Given the description of an element on the screen output the (x, y) to click on. 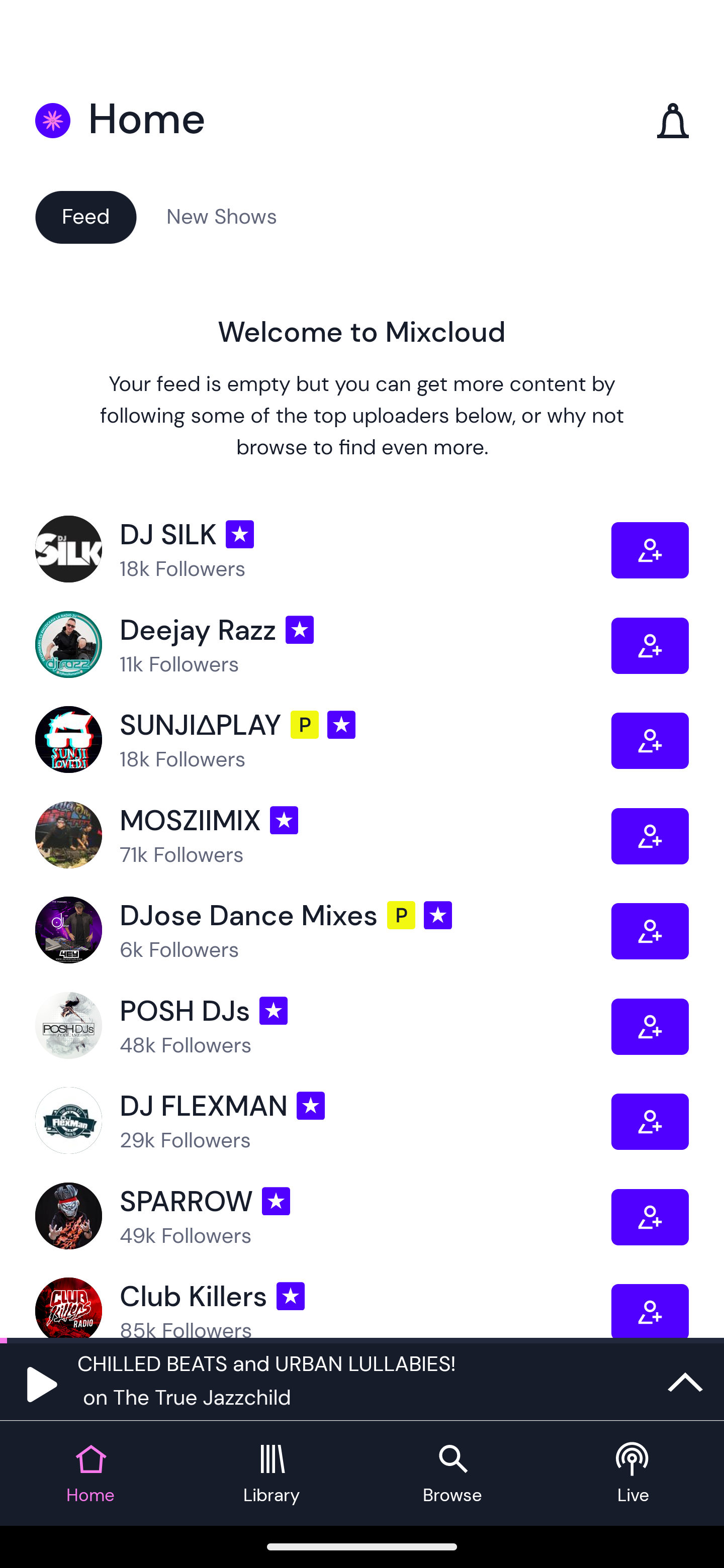
Feed (85, 216)
New Shows (221, 216)
DJ SILK, 18k Followers DJ SILK 18k Followers (323, 549)
Follow (649, 550)
Follow (649, 645)
SUNJI∆PLAY, 18k Followers SUNJI∆PLAY 18k Followers (323, 739)
Follow (649, 739)
MOSZIIMIX, 71k Followers MOSZIIMIX 71k Followers (323, 835)
Follow (649, 835)
Follow (649, 931)
POSH DJs, 48k Followers POSH DJs 48k Followers (323, 1026)
Follow (649, 1026)
DJ FLEXMAN, 29k Followers DJ FLEXMAN 29k Followers (323, 1120)
Follow (649, 1120)
SPARROW, 49k Followers SPARROW 49k Followers (323, 1216)
Follow (649, 1216)
Follow (649, 1310)
Home tab Home (90, 1473)
Library tab Library (271, 1473)
Browse tab Browse (452, 1473)
Live tab Live (633, 1473)
